Given the description of an element on the screen output the (x, y) to click on. 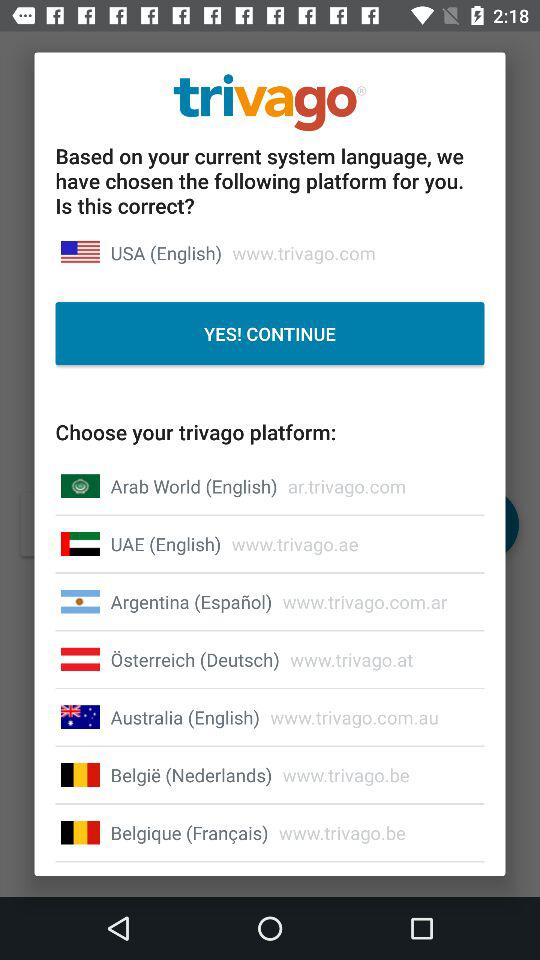
turn on the item below australia (english) (191, 774)
